Given the description of an element on the screen output the (x, y) to click on. 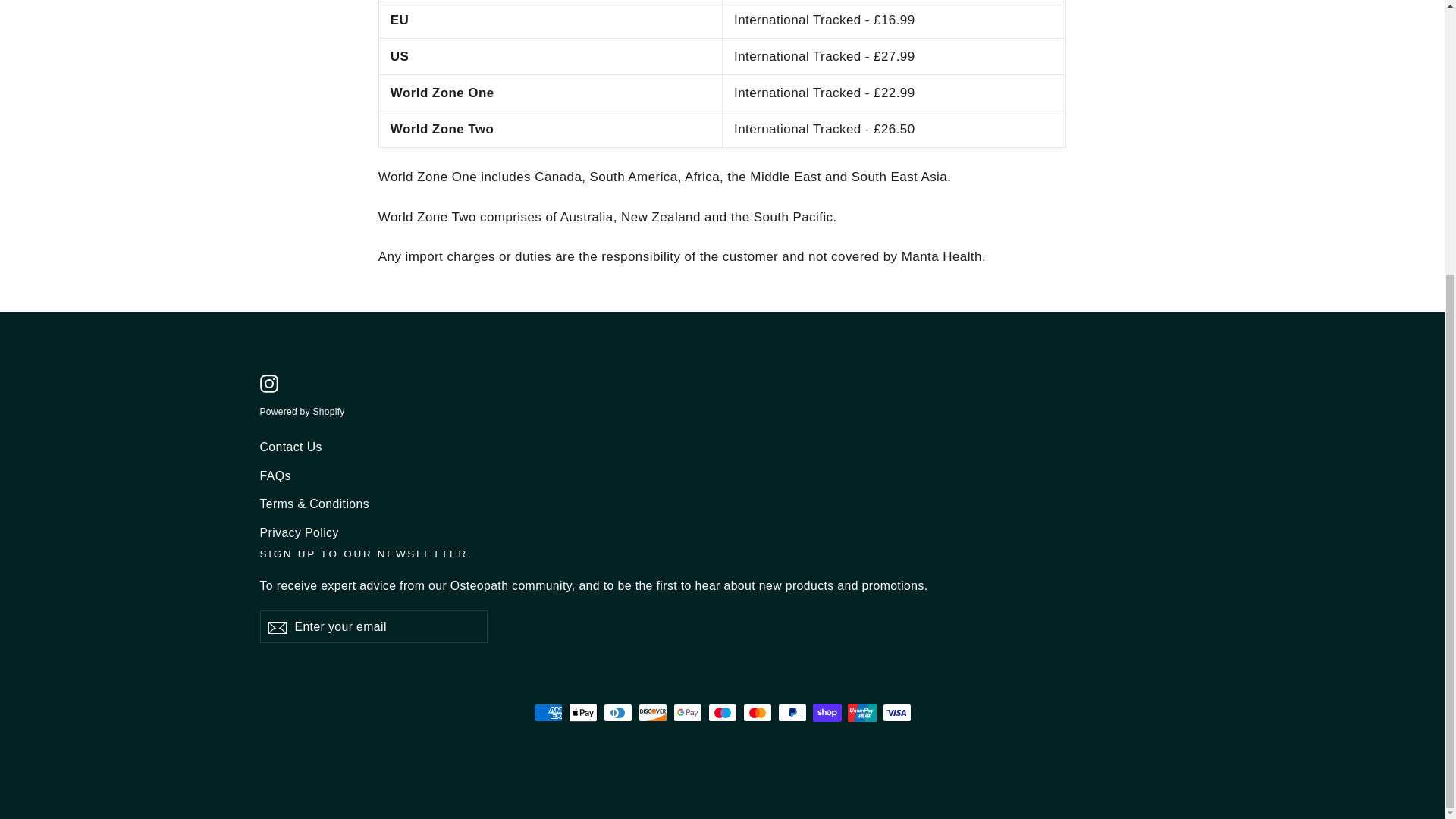
Shop Pay (826, 712)
Maestro (721, 712)
Visa (896, 712)
Discover (652, 712)
Union Pay (861, 712)
American Express (548, 712)
Mastercard (756, 712)
Diners Club (617, 712)
PayPal (791, 712)
Apple Pay (582, 712)
